Given the description of an element on the screen output the (x, y) to click on. 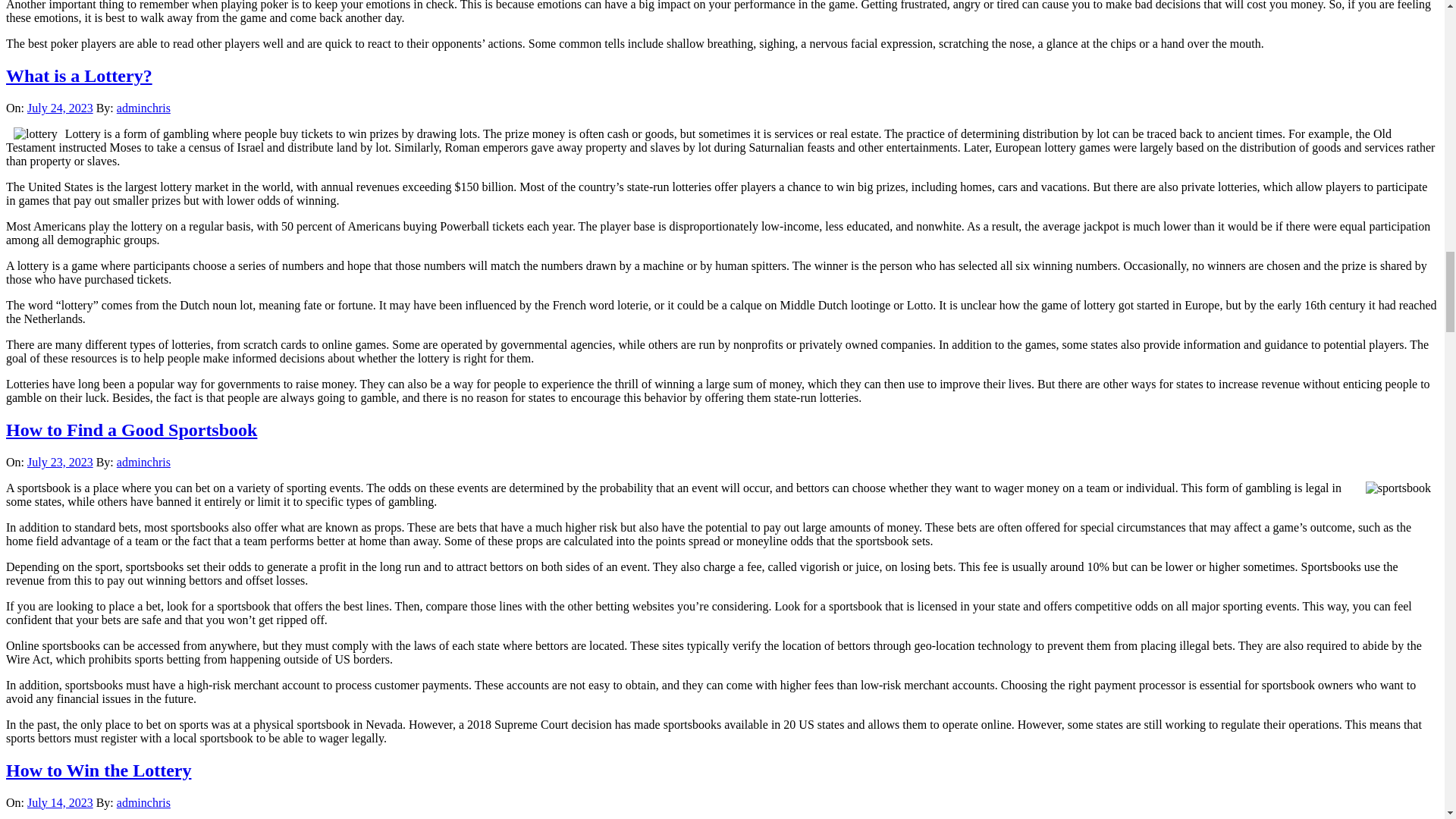
July 14, 2023 (60, 802)
July 24, 2023 (60, 107)
How to Find a Good Sportsbook (131, 429)
adminchris (143, 107)
What is a Lottery? (78, 75)
adminchris (143, 802)
adminchris (143, 461)
July 23, 2023 (60, 461)
How to Win the Lottery (97, 770)
